Given the description of an element on the screen output the (x, y) to click on. 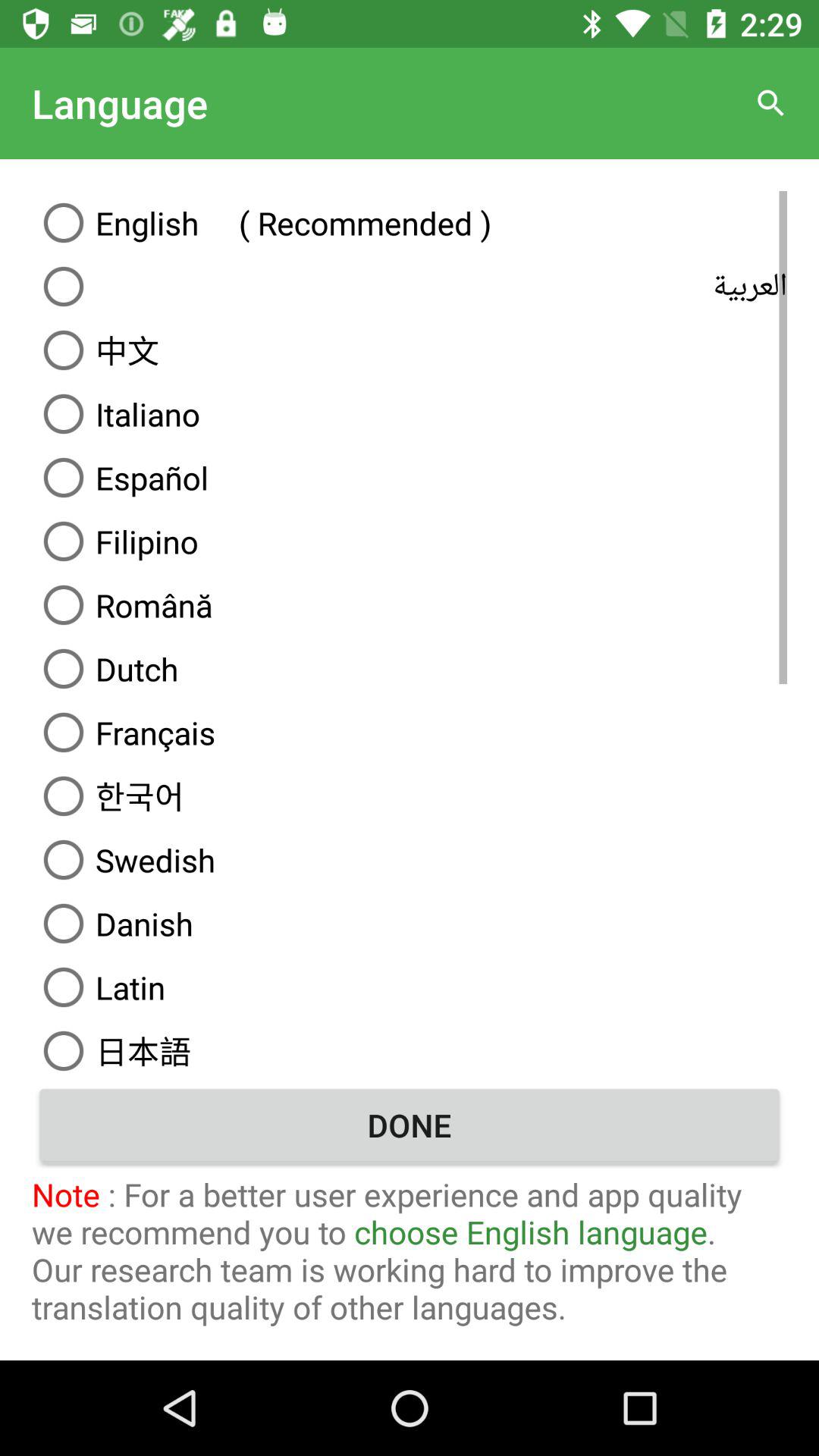
choose icon above english     ( recommended ) (771, 103)
